Given the description of an element on the screen output the (x, y) to click on. 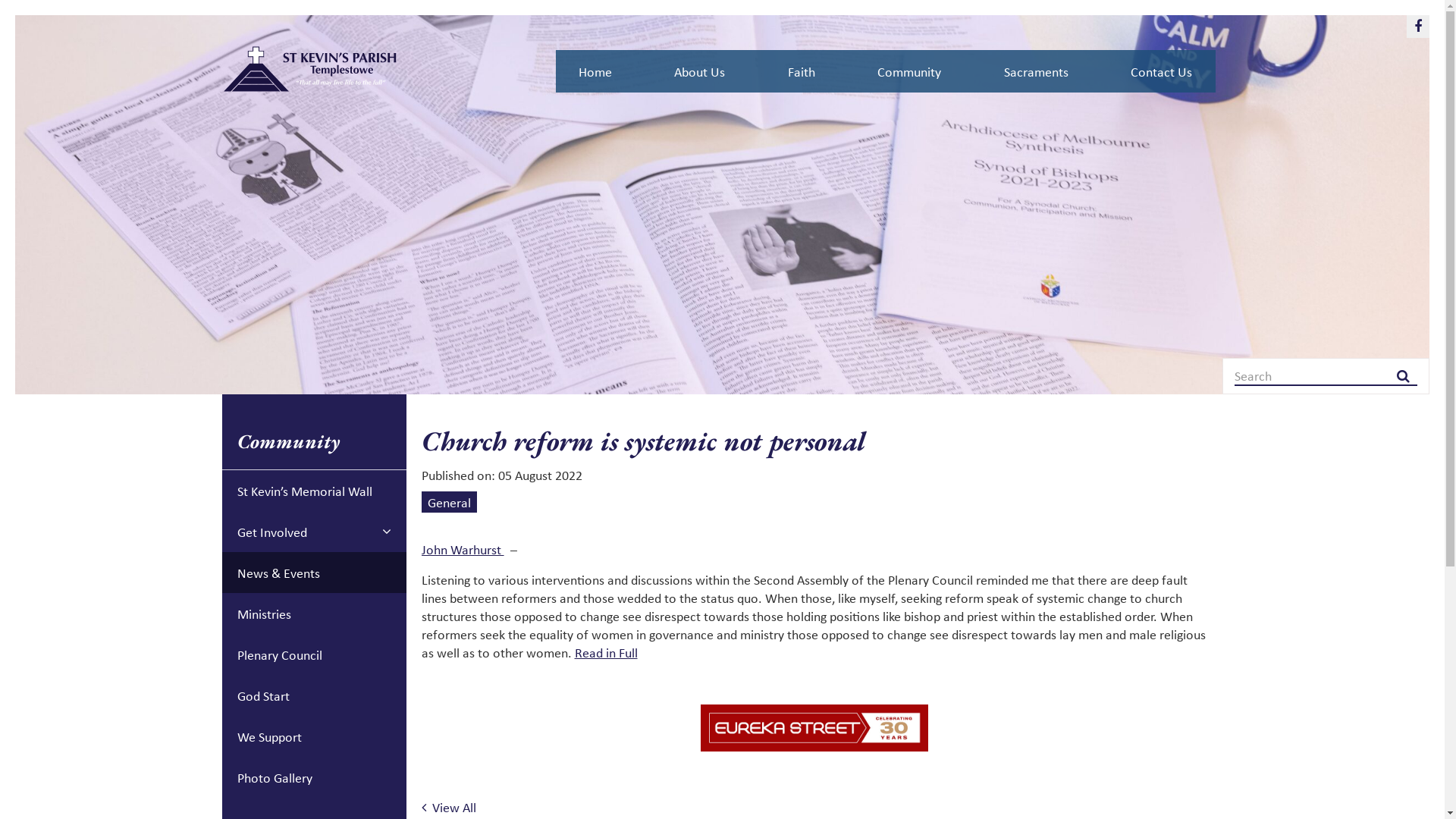
View All Element type: text (448, 806)
Home Element type: text (594, 71)
Ministries Element type: text (313, 613)
Submit Element type: text (18, 9)
Photo Gallery Element type: text (313, 776)
Get Involved Element type: text (313, 531)
Community Element type: text (313, 441)
About Us Element type: text (699, 71)
We Support Element type: text (313, 735)
Community Element type: text (909, 71)
General Element type: text (448, 501)
Faith Element type: text (801, 71)
God Start Element type: text (313, 694)
Plenary Council Element type: text (313, 653)
News & Events Element type: text (313, 572)
Sacraments Element type: text (1035, 71)
John Warhurst  Element type: text (462, 548)
Read in Full Element type: text (605, 652)
Contact Us Element type: text (1161, 71)
